Given the description of an element on the screen output the (x, y) to click on. 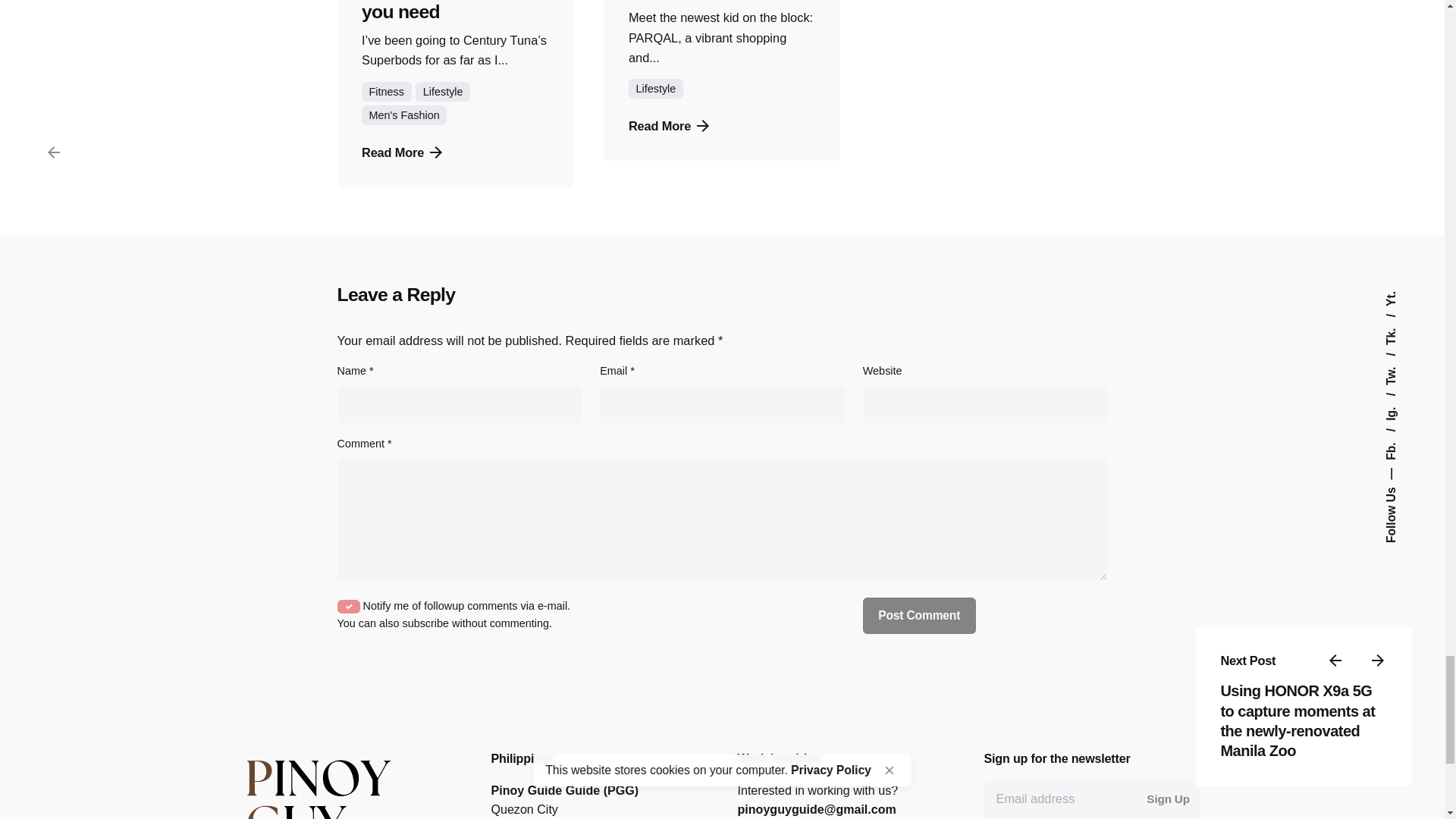
yes (348, 606)
Post Comment (919, 615)
